Given the description of an element on the screen output the (x, y) to click on. 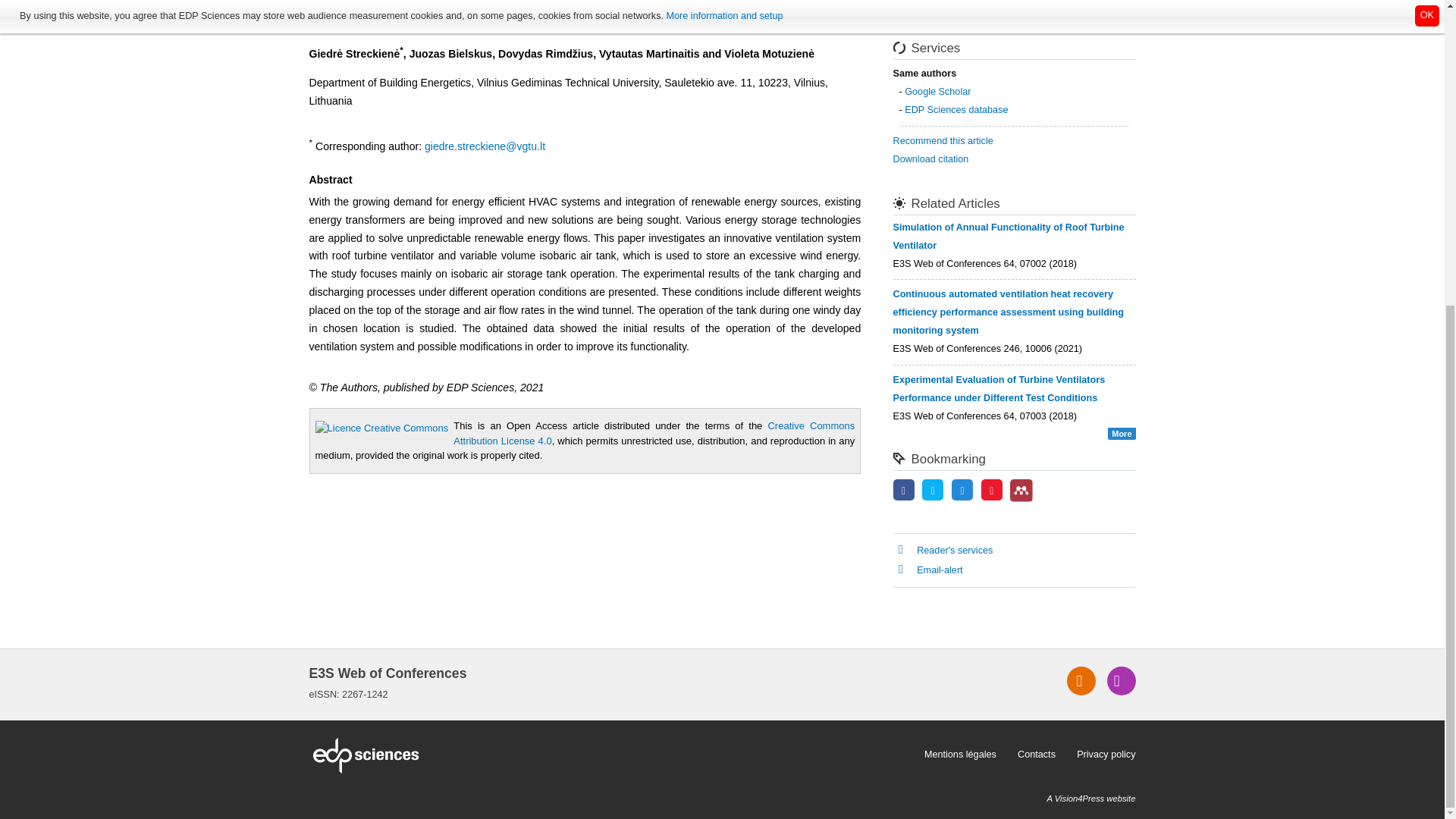
Mendeley (1021, 490)
